Given the description of an element on the screen output the (x, y) to click on. 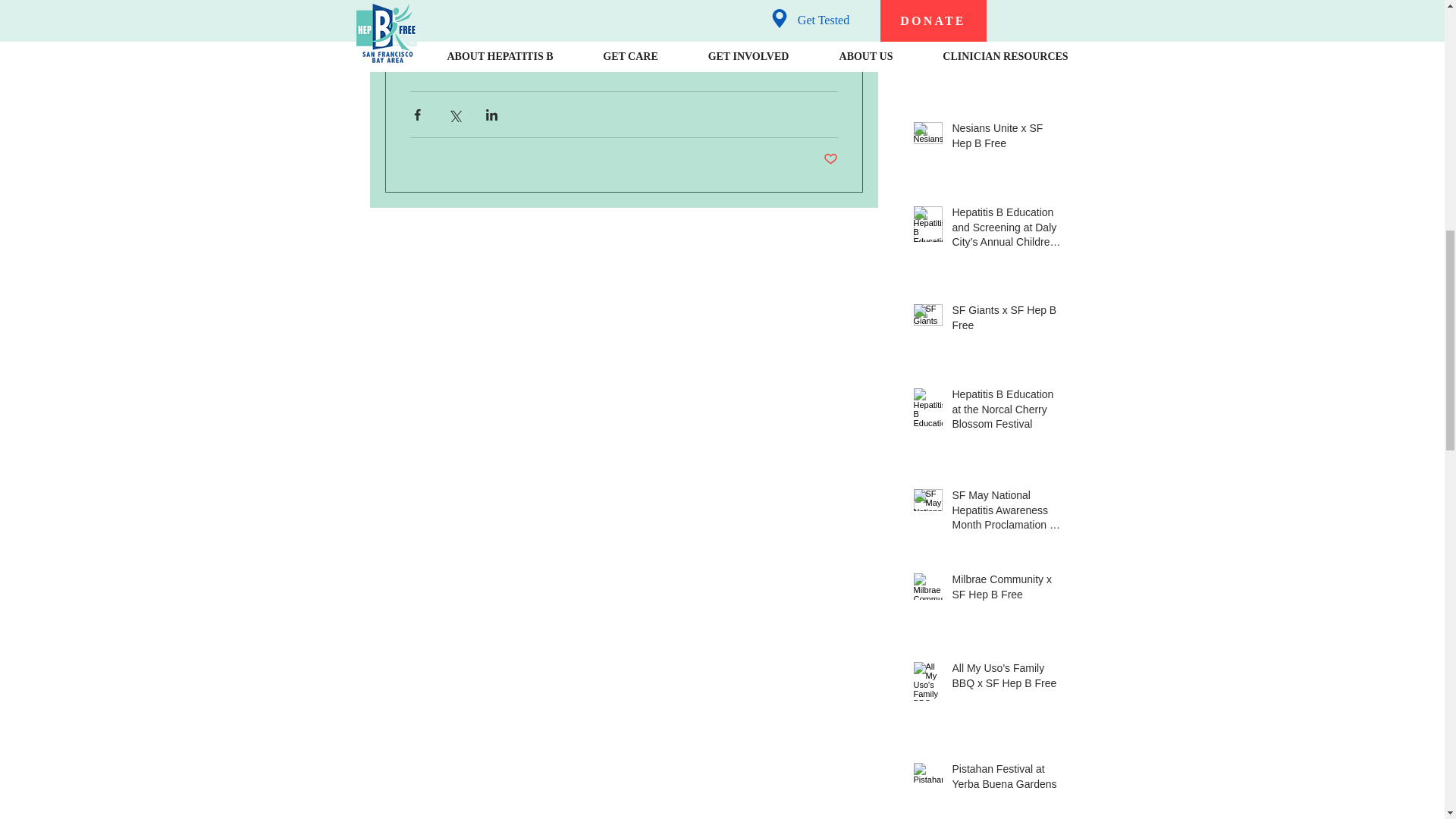
Pistahan Festival at Yerba Buena Gardens (1006, 779)
Post not marked as liked (831, 159)
Milbrae Community x SF Hep B Free (1006, 590)
Hepatitis B Education at the Norcal Cherry Blossom Festival (1006, 412)
SF Giants x SF Hep B Free (1006, 321)
All My Uso's Family BBQ x SF Hep B Free (1006, 678)
Nesians Unite x SF Hep B Free (1006, 139)
